Given the description of an element on the screen output the (x, y) to click on. 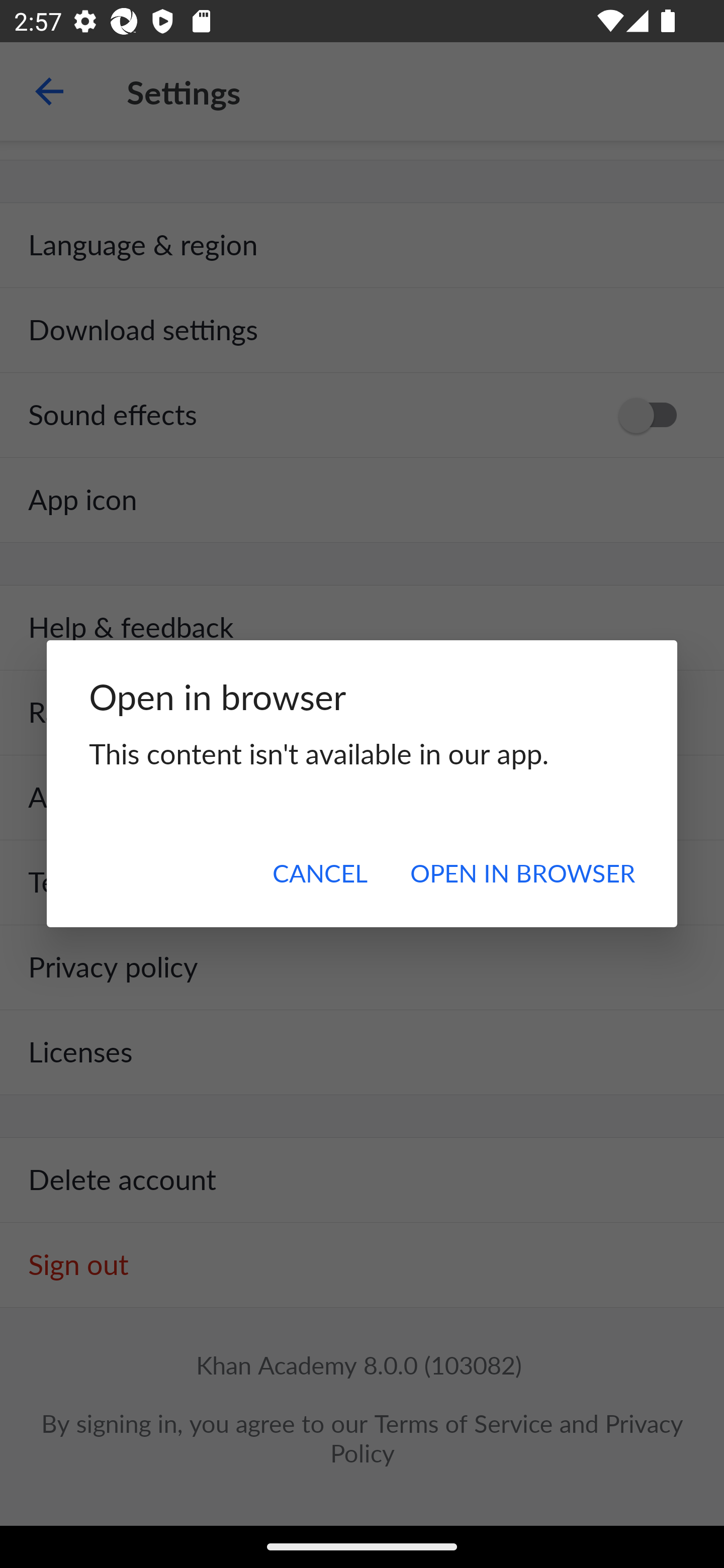
CANCEL (319, 872)
OPEN IN BROWSER (521, 872)
